Given the description of an element on the screen output the (x, y) to click on. 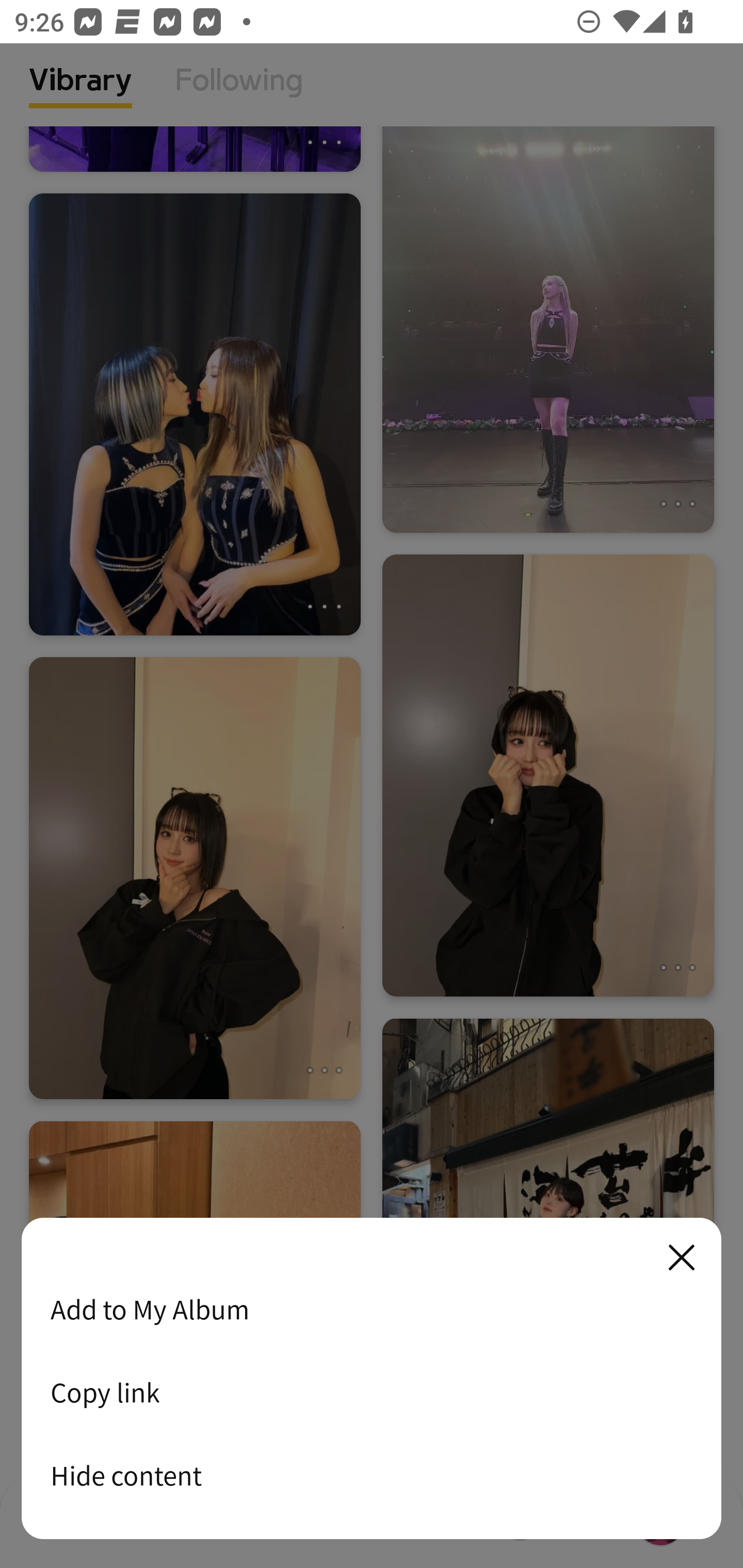
Add to My Album Copy link Hide content (371, 1378)
Add to My Album (371, 1308)
Copy link (371, 1391)
Hide content (371, 1474)
